Given the description of an element on the screen output the (x, y) to click on. 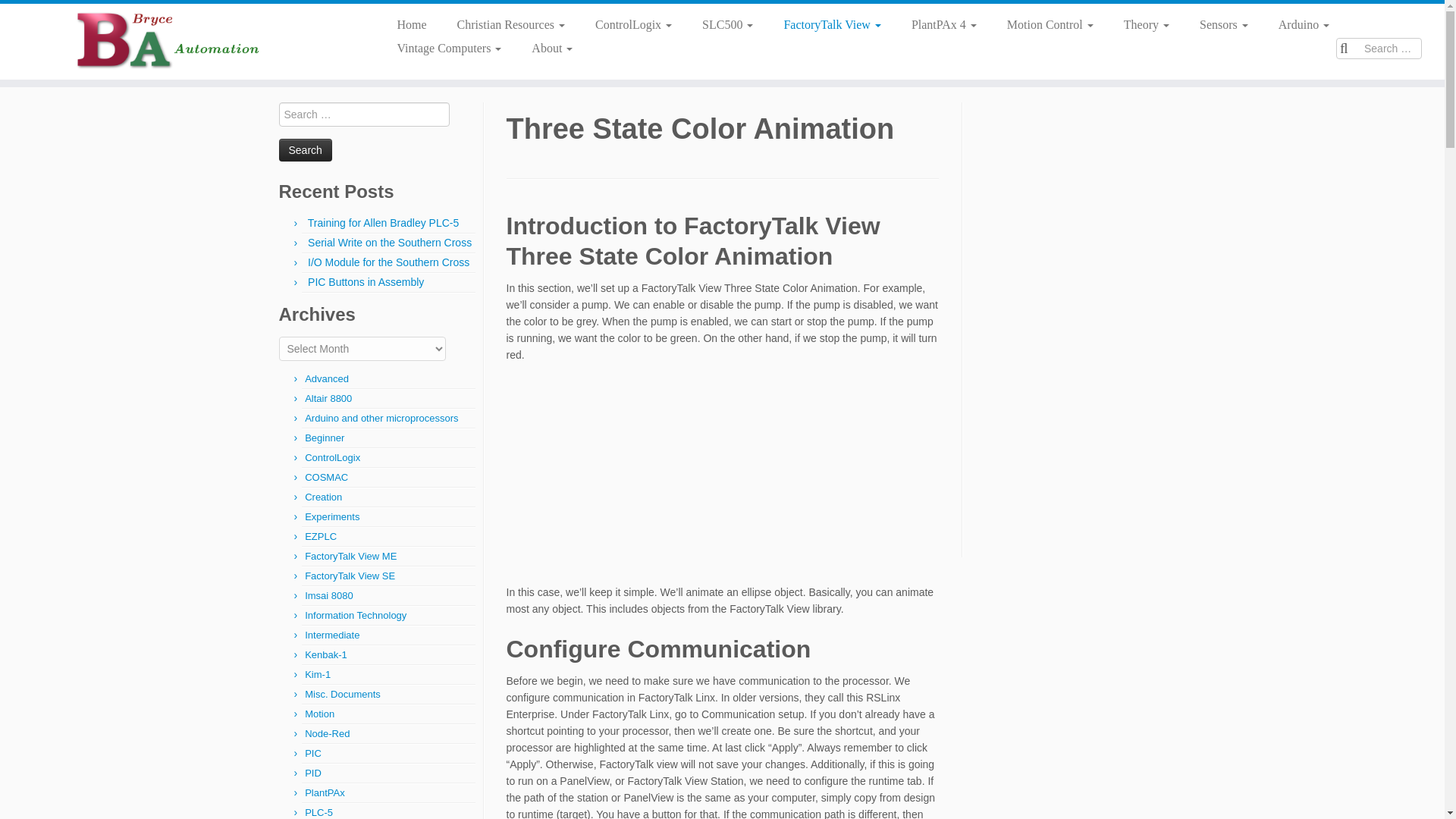
Search (305, 149)
Home (411, 24)
Search (305, 149)
ControlLogix (633, 24)
Advertisement (722, 477)
Christian Resources (510, 24)
